Given the description of an element on the screen output the (x, y) to click on. 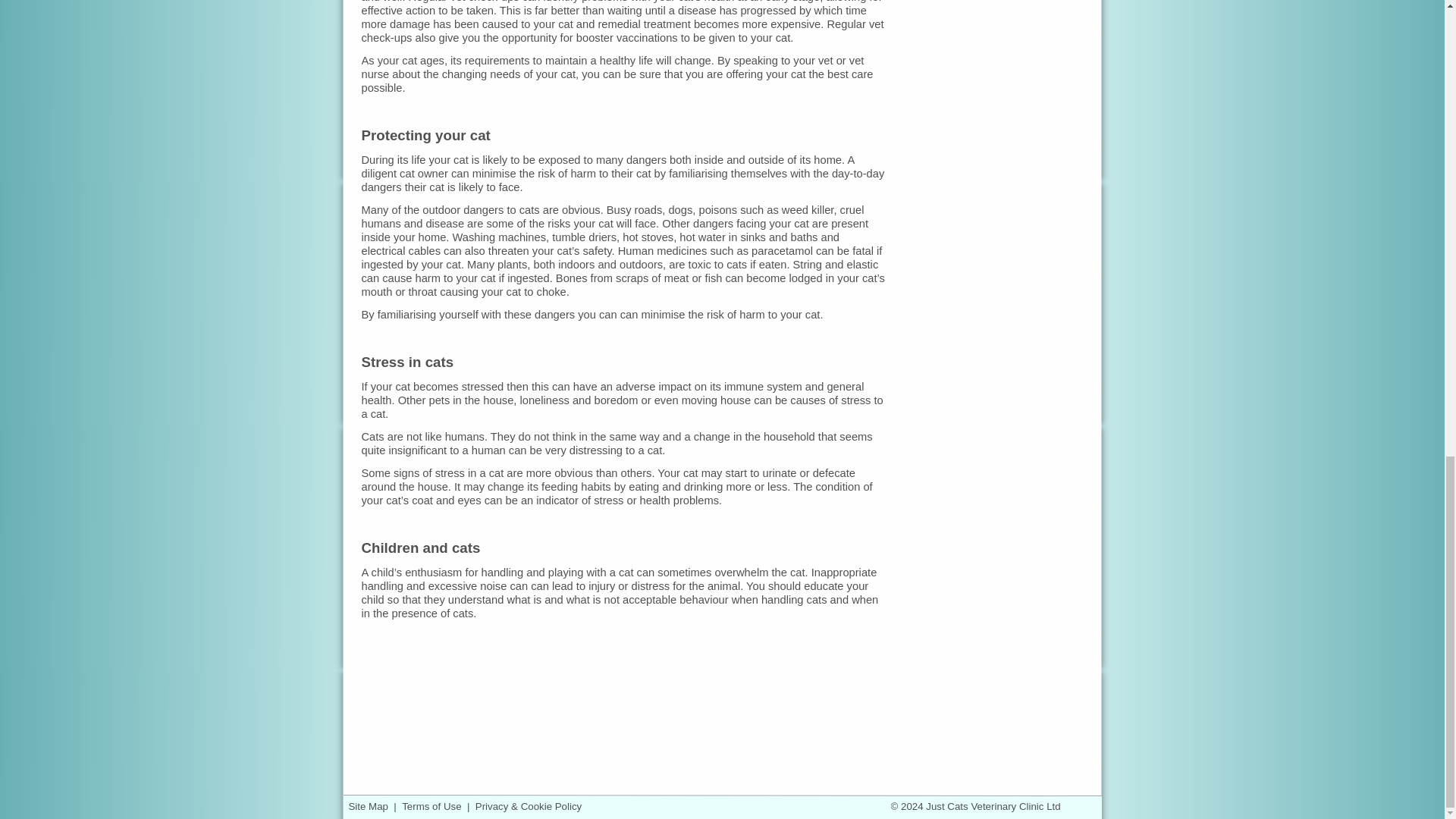
Terms of Use (431, 806)
Site Map (368, 806)
